Given the description of an element on the screen output the (x, y) to click on. 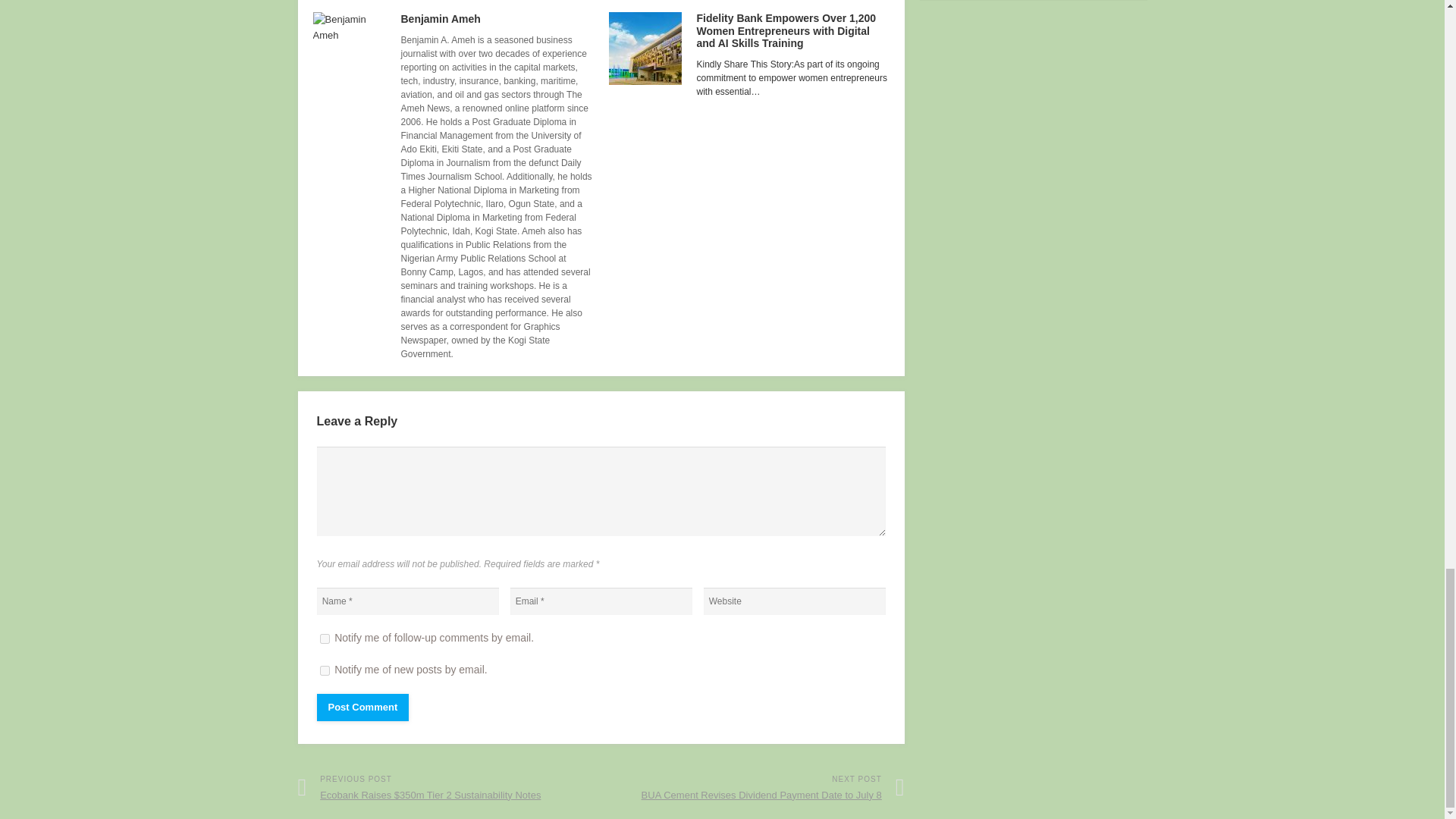
subscribe (325, 638)
Post Comment (363, 707)
subscribe (325, 670)
